Given the description of an element on the screen output the (x, y) to click on. 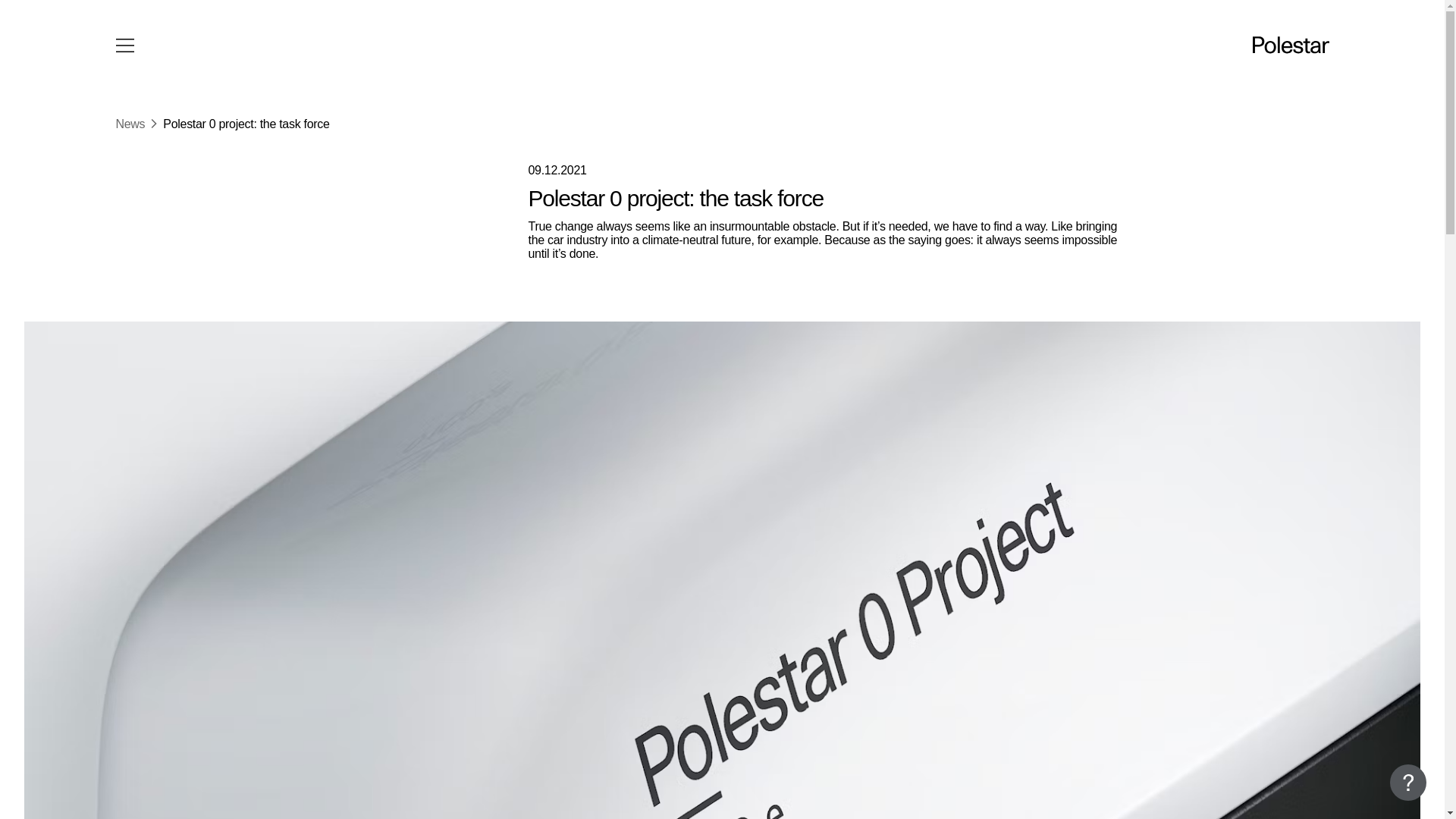
News (129, 124)
menu-toggle-button (124, 45)
